Given the description of an element on the screen output the (x, y) to click on. 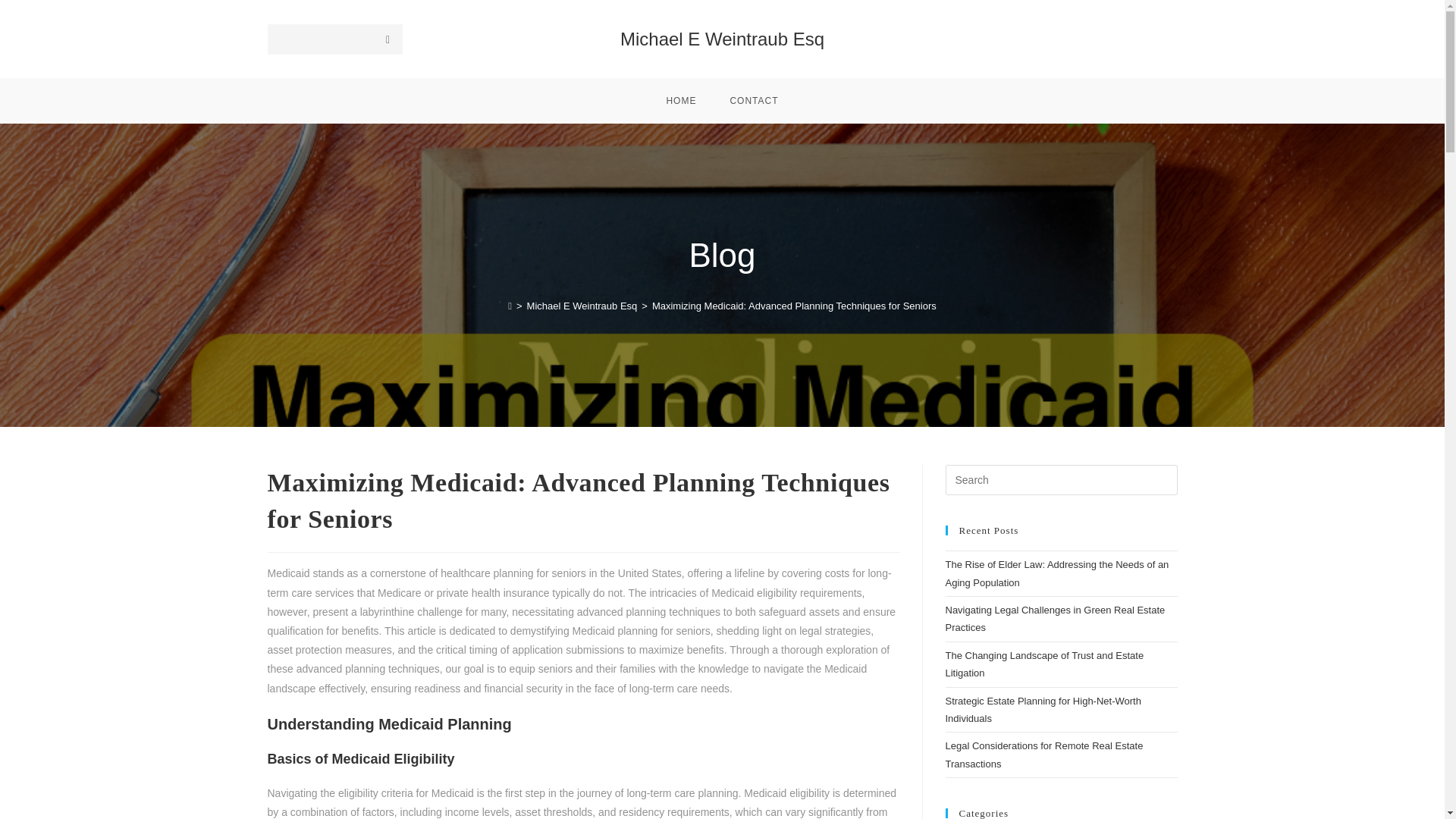
Michael E Weintraub Esq (582, 306)
Strategic Estate Planning for High-Net-Worth Individuals (1042, 709)
HOME (681, 100)
Legal Considerations for Remote Real Estate Transactions (1043, 754)
CONTACT (753, 100)
The Changing Landscape of Trust and Estate Litigation (1043, 664)
Michael E Weintraub Esq (722, 38)
Navigating Legal Challenges in Green Real Estate Practices (1054, 618)
